Given the description of an element on the screen output the (x, y) to click on. 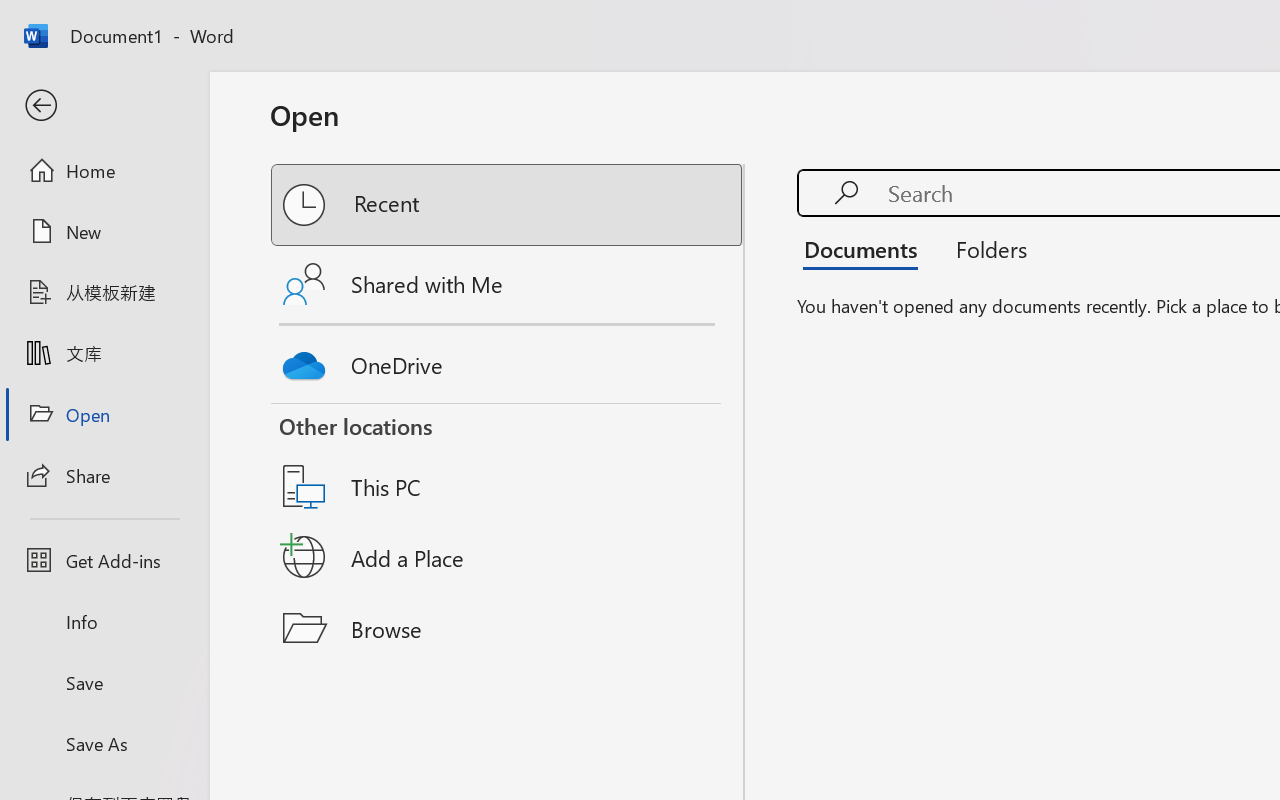
Folders (984, 248)
Browse (507, 627)
Shared with Me (507, 283)
Save As (104, 743)
Get Add-ins (104, 560)
This PC (507, 461)
New (104, 231)
OneDrive (507, 359)
Documents (866, 248)
